Given the description of an element on the screen output the (x, y) to click on. 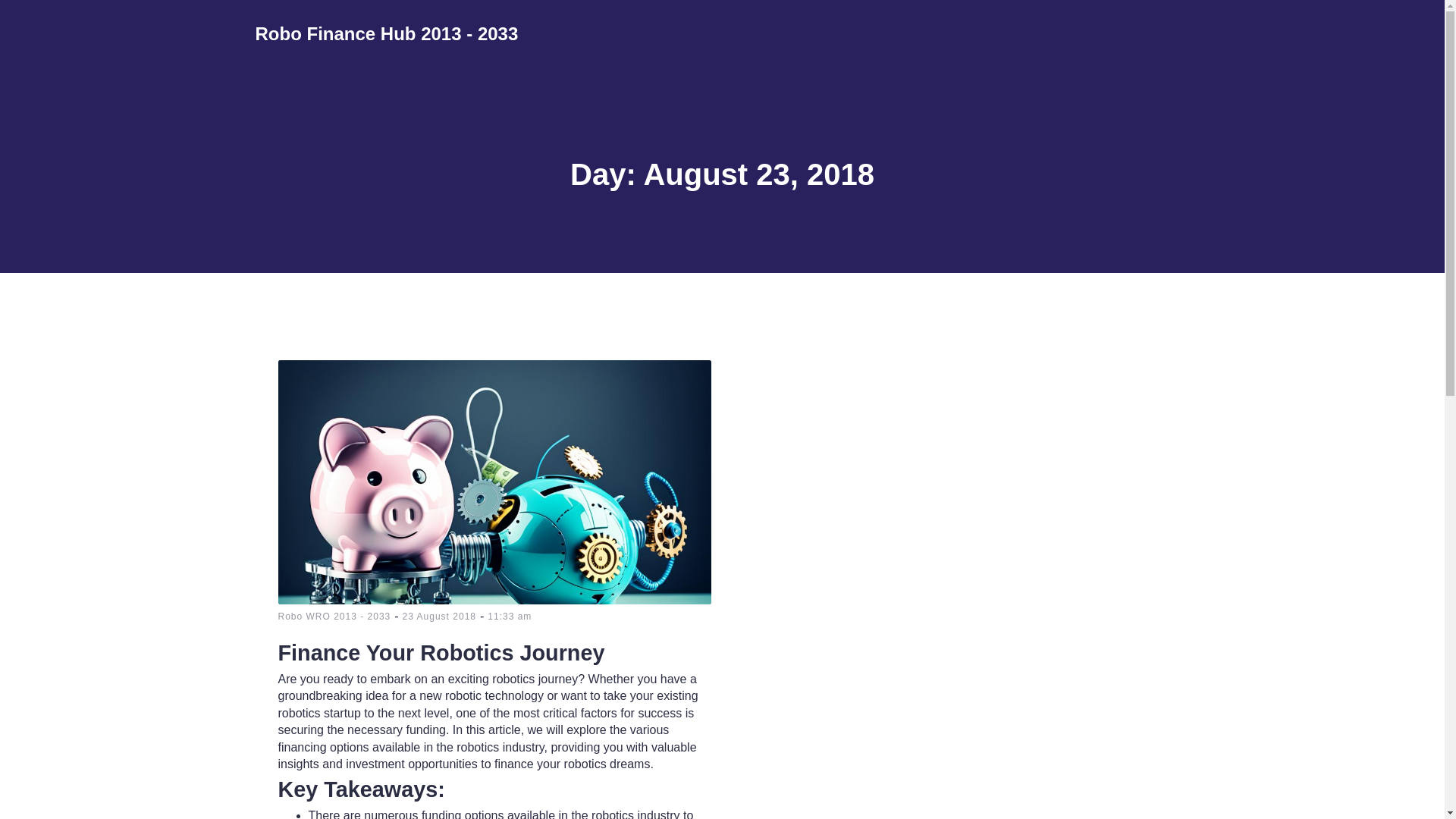
Robo WRO 2013 - 2033 (334, 616)
Robo Finance Hub 2013 - 2033 (386, 33)
11:33 am (509, 616)
Finance Your Robotics Journey (494, 647)
23 August 2018 (439, 616)
